Given the description of an element on the screen output the (x, y) to click on. 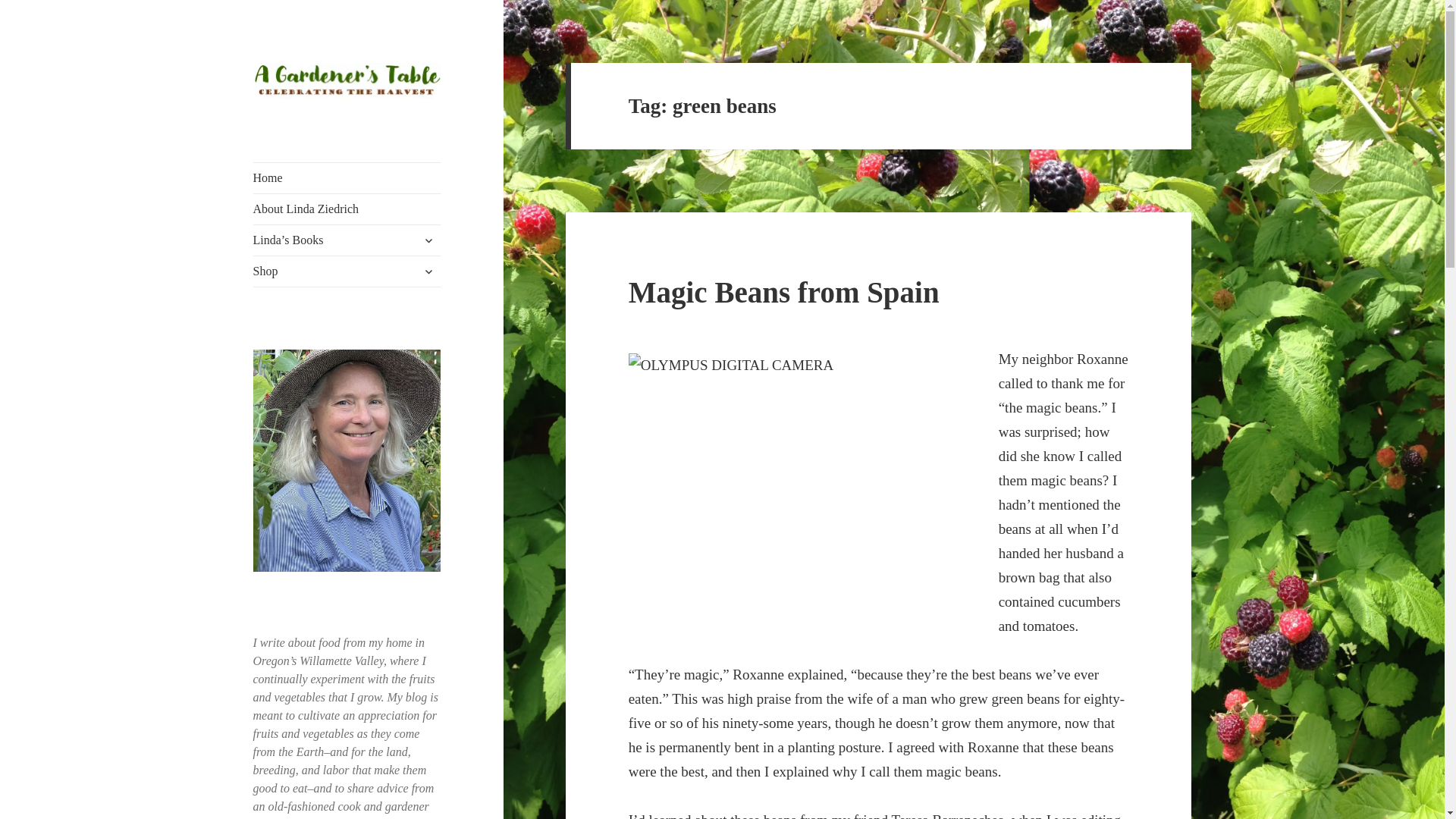
Shop (347, 271)
A Gardener's Table (345, 123)
Magic Beans from Spain (783, 292)
expand child menu (428, 271)
expand child menu (428, 240)
About Linda Ziedrich (347, 209)
Home (347, 177)
